Given the description of an element on the screen output the (x, y) to click on. 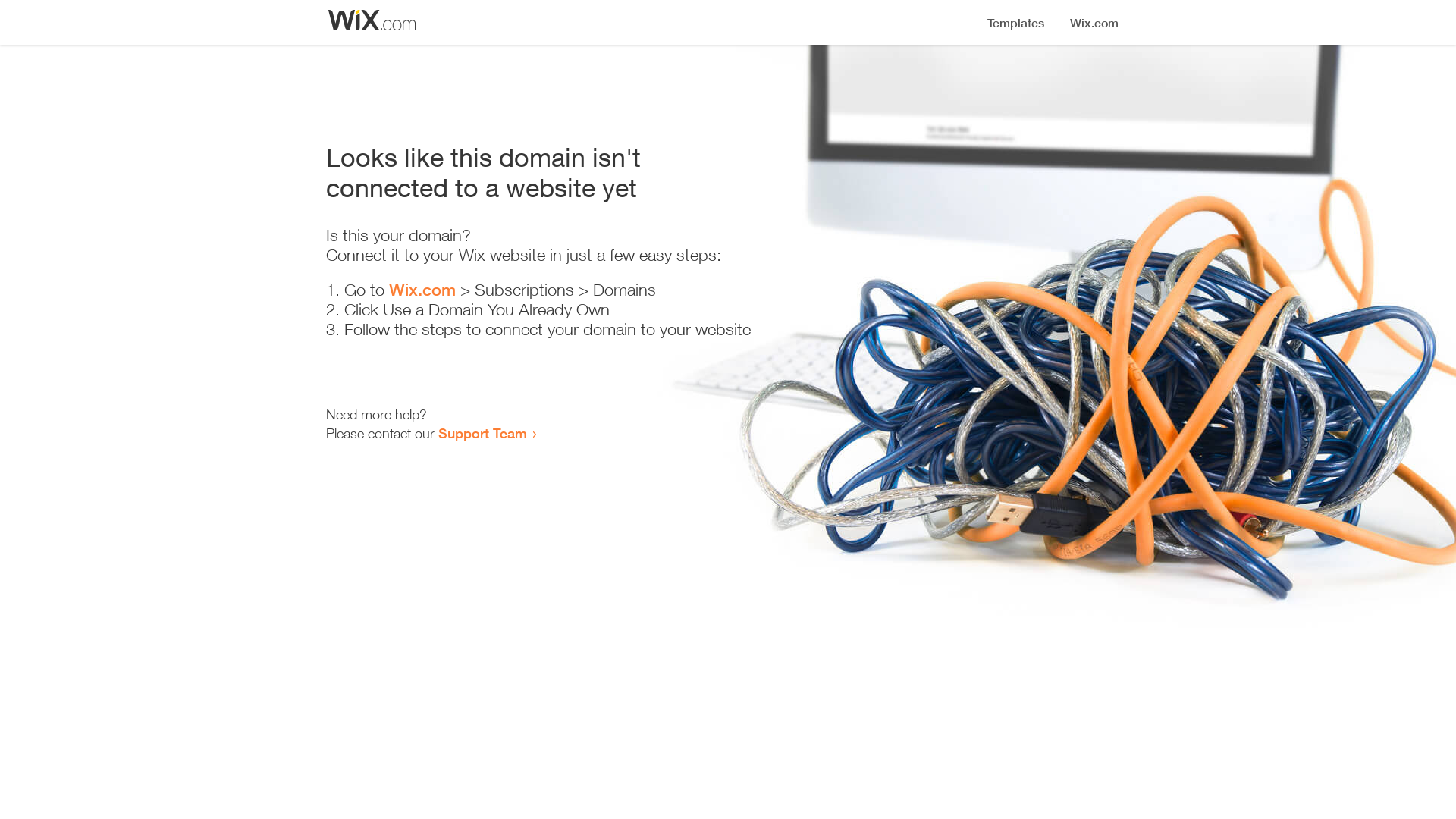
Wix.com Element type: text (422, 289)
Support Team Element type: text (482, 432)
